Given the description of an element on the screen output the (x, y) to click on. 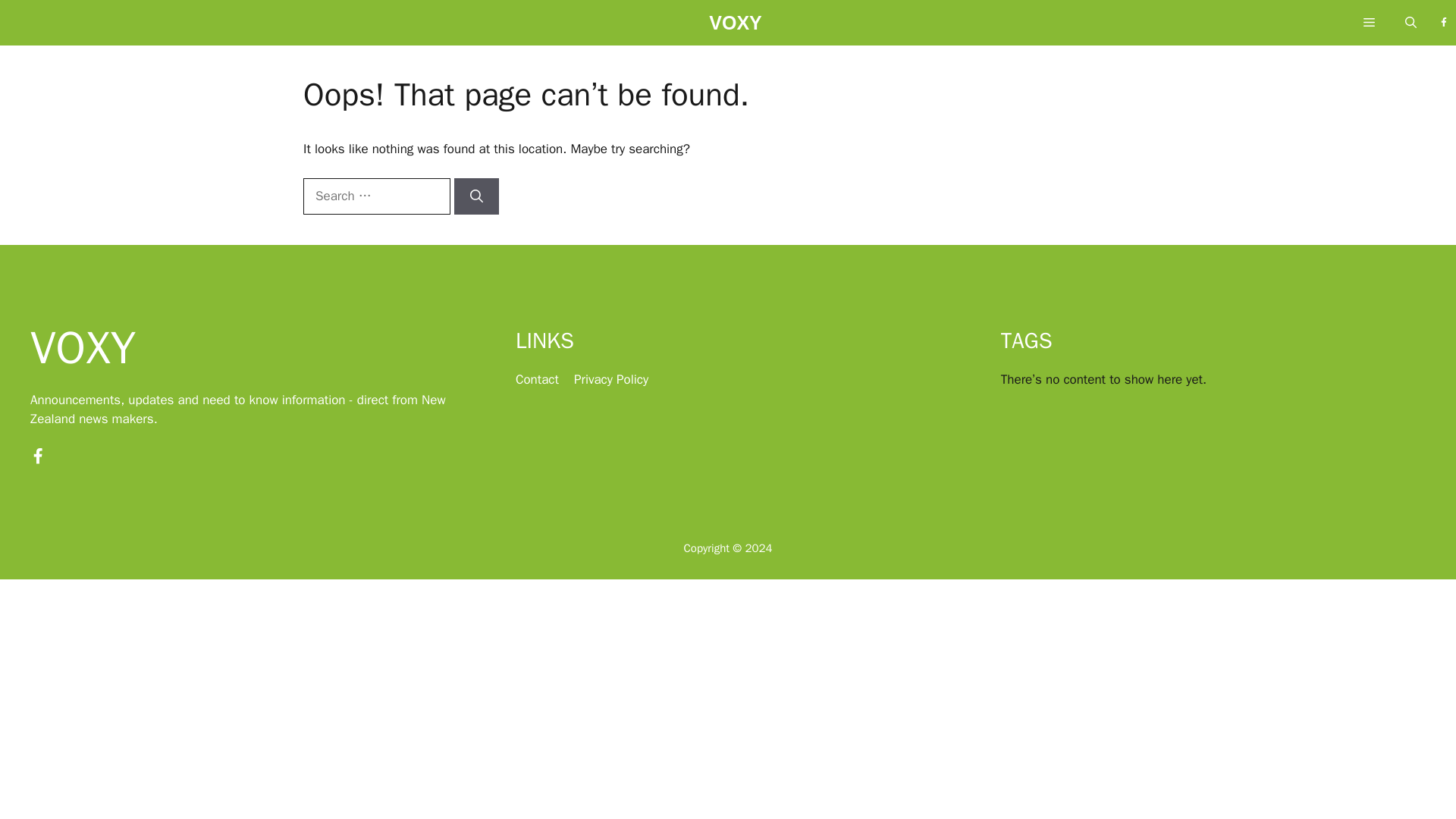
Contact (537, 379)
Privacy Policy (610, 379)
VOXY (735, 26)
Search for: (375, 196)
